Given the description of an element on the screen output the (x, y) to click on. 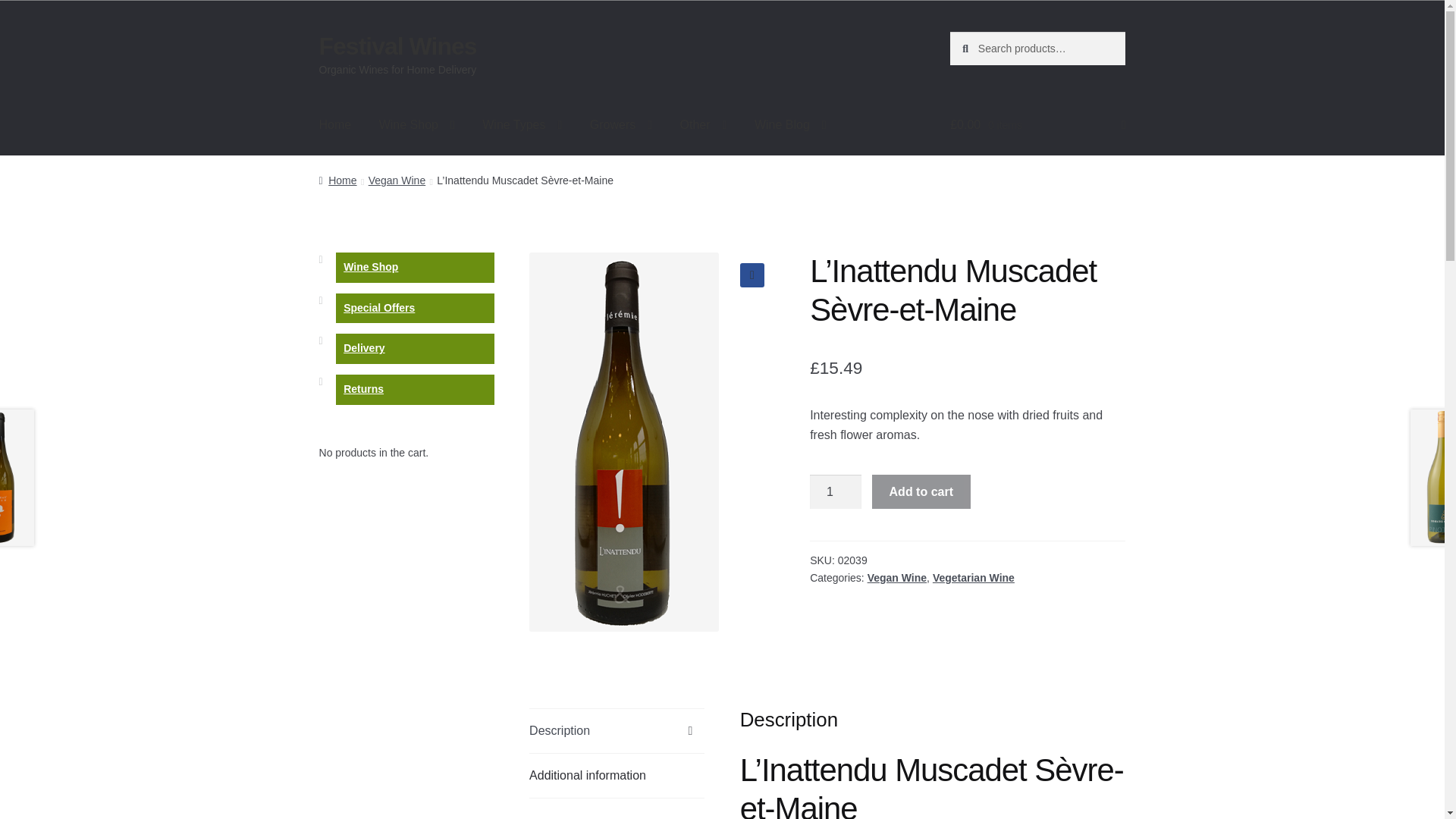
Growers (620, 124)
Home (335, 124)
View your shopping cart (1037, 124)
Wine Types (521, 124)
1 (835, 492)
Qty (835, 492)
Wine Shop (416, 124)
Festival Wines (397, 45)
